Given the description of an element on the screen output the (x, y) to click on. 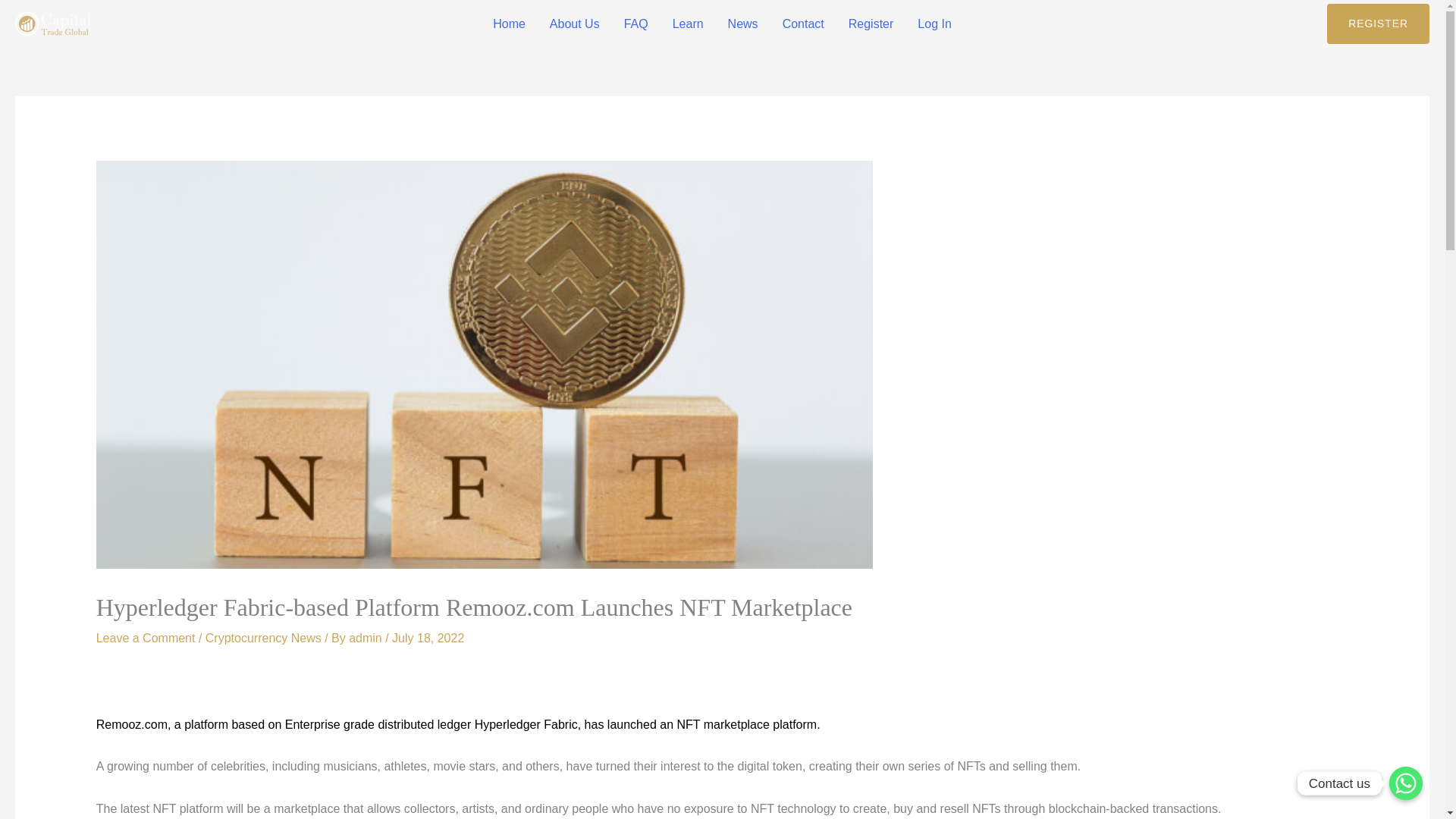
admin (367, 637)
Log In (933, 23)
View all posts by admin (367, 637)
Contact (802, 23)
Home (508, 23)
Leave a Comment (145, 637)
About Us (574, 23)
News (743, 23)
FAQ (636, 23)
REGISTER (1377, 24)
Register (870, 23)
Cryptocurrency News (263, 637)
Learn (688, 23)
